Given the description of an element on the screen output the (x, y) to click on. 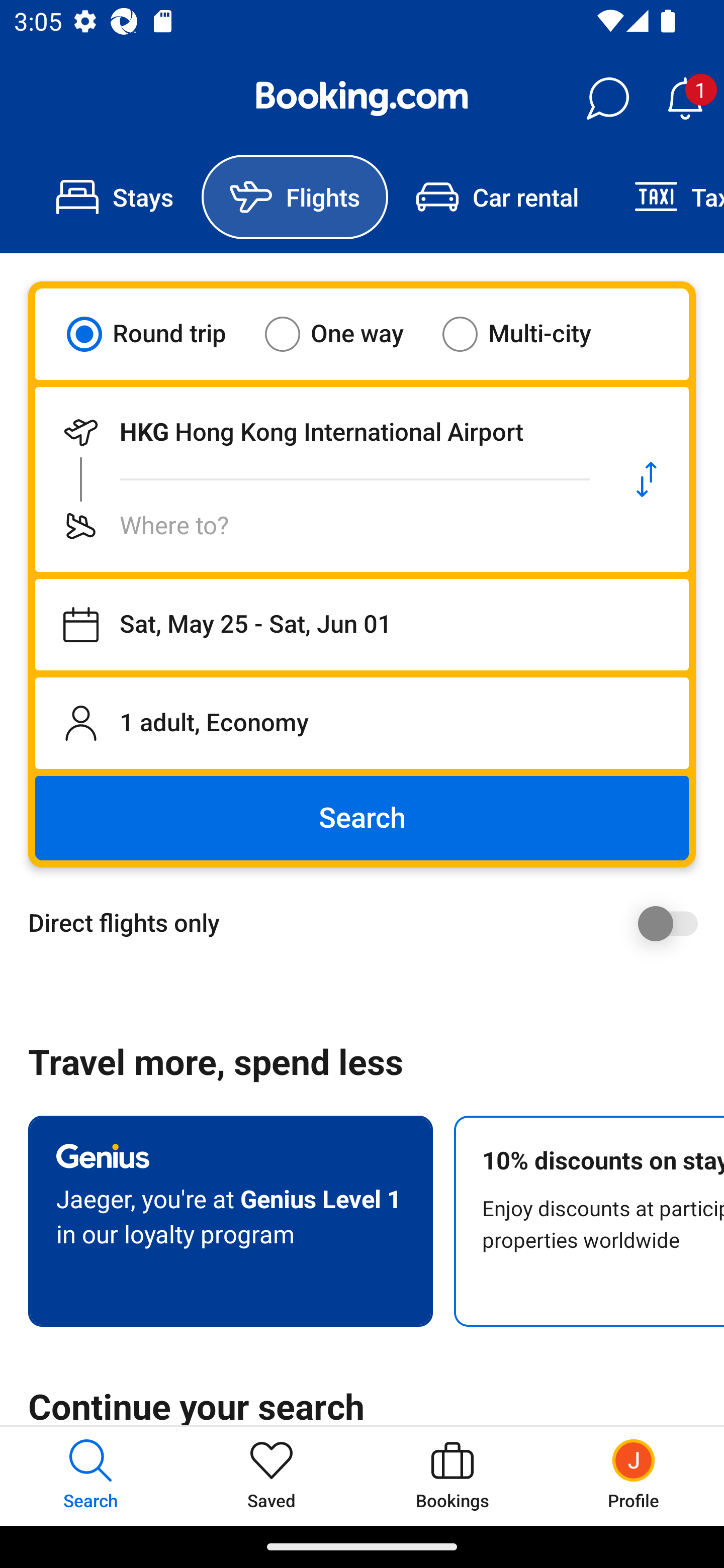
Messages (607, 98)
Notifications (685, 98)
Stays (114, 197)
Flights (294, 197)
Car rental (497, 197)
Taxi (665, 197)
One way (346, 333)
Multi-city (528, 333)
Departing from HKG Hong Kong International Airport (319, 432)
Swap departure location and destination (646, 479)
Flying to  (319, 525)
Departing on Sat, May 25, returning on Sat, Jun 01 (361, 624)
1 adult, Economy (361, 722)
Search (361, 818)
Direct flights only (369, 923)
Saved (271, 1475)
Bookings (452, 1475)
Profile (633, 1475)
